Given the description of an element on the screen output the (x, y) to click on. 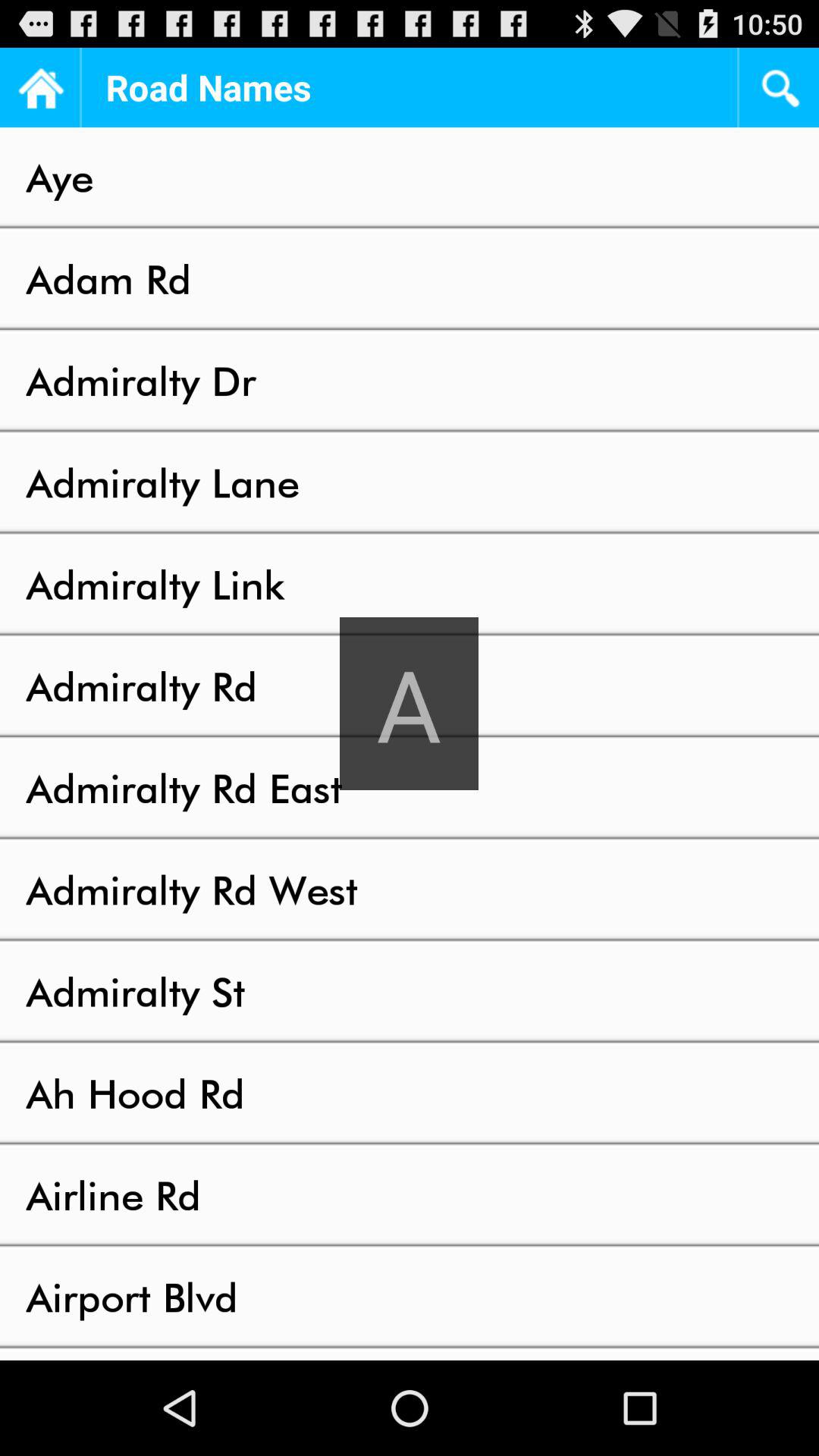
this home page more (39, 87)
